Given the description of an element on the screen output the (x, y) to click on. 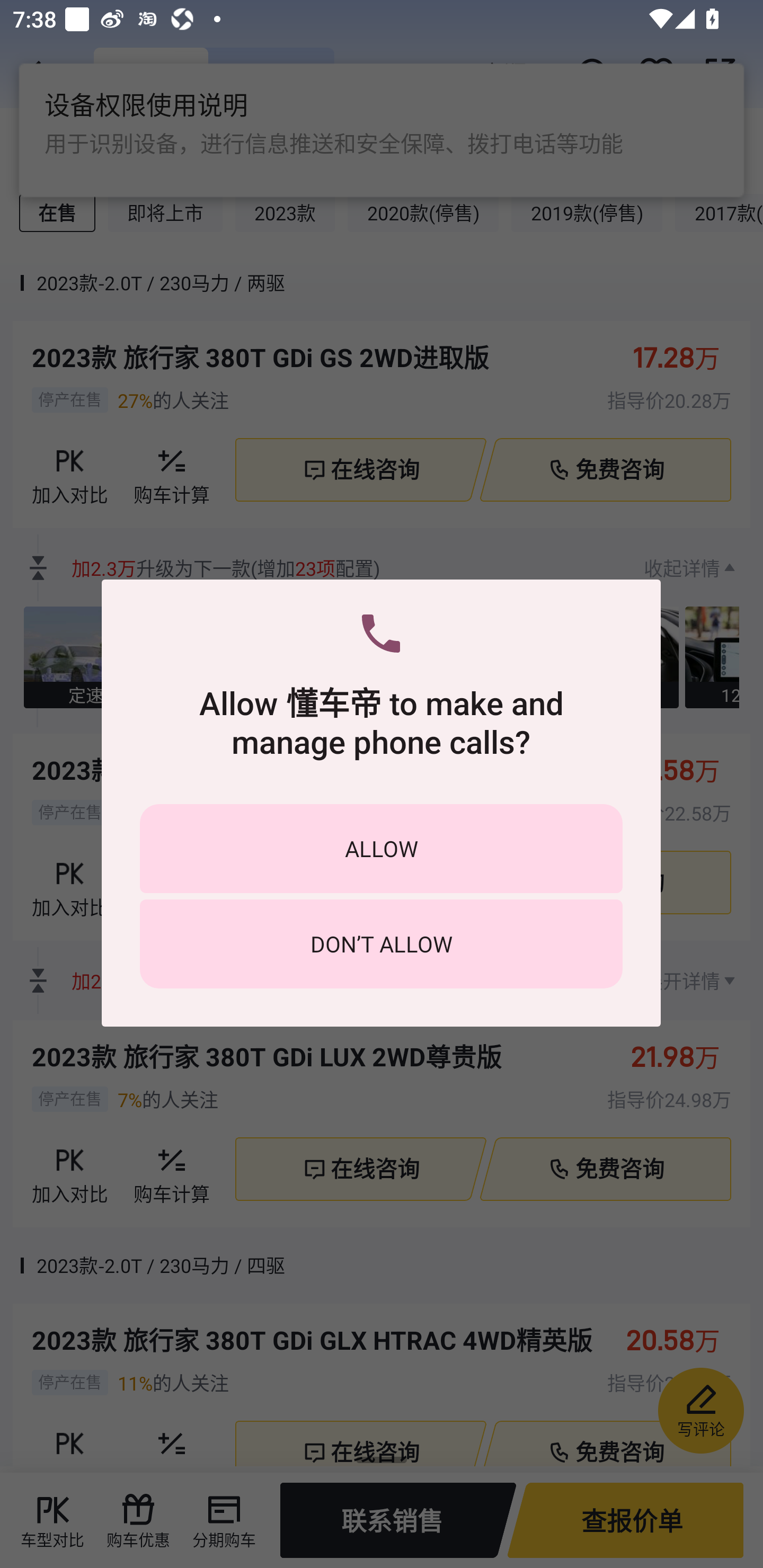
ALLOW (380, 848)
DON’T ALLOW (380, 943)
